Given the description of an element on the screen output the (x, y) to click on. 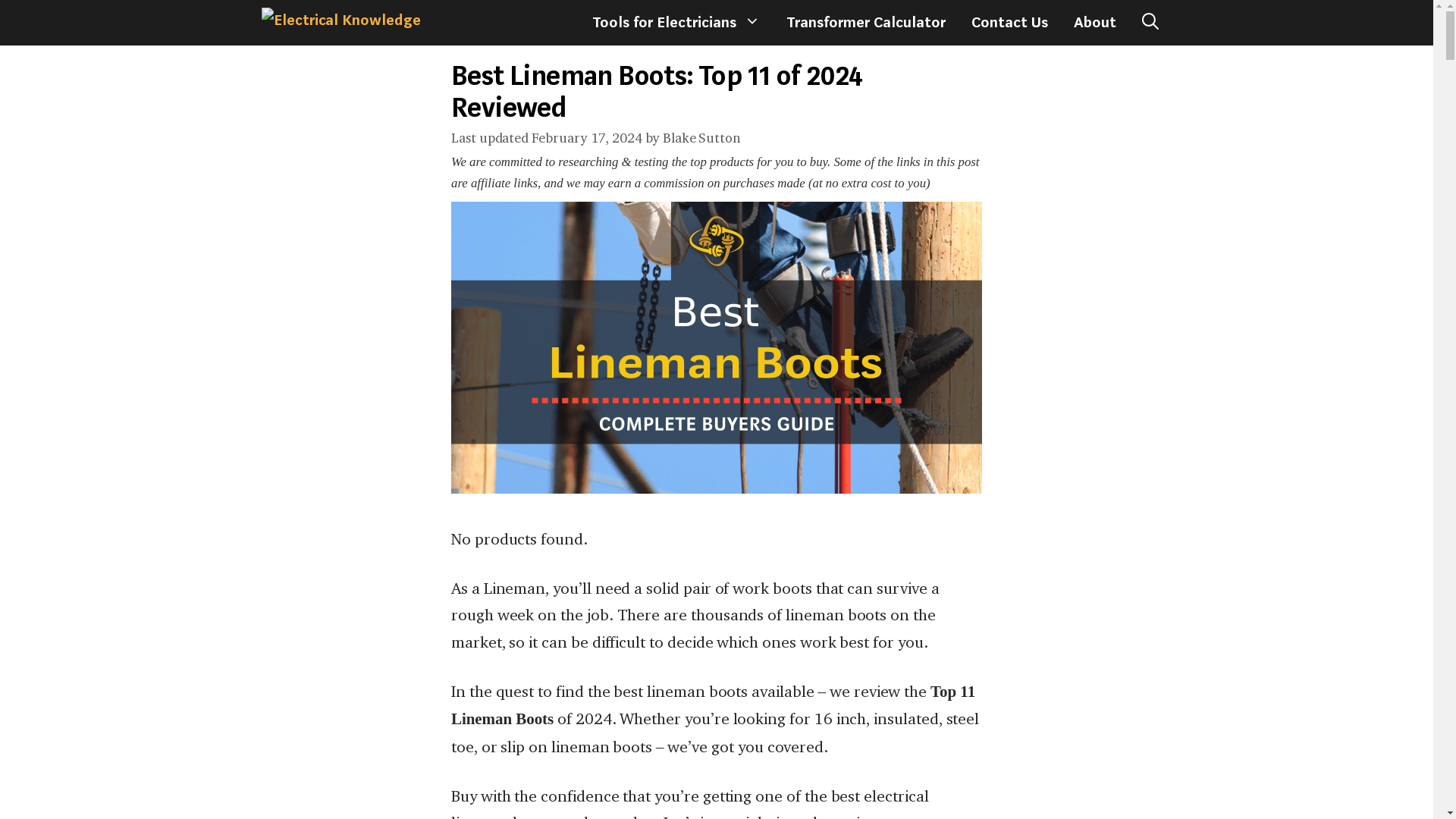
Contact Us (1009, 22)
Electrical Knowledge (340, 22)
Transformer Calculator (865, 22)
View all posts by Blake Sutton (701, 137)
Blake Sutton (701, 137)
About (1095, 22)
Tools for Electricians (676, 22)
